Given the description of an element on the screen output the (x, y) to click on. 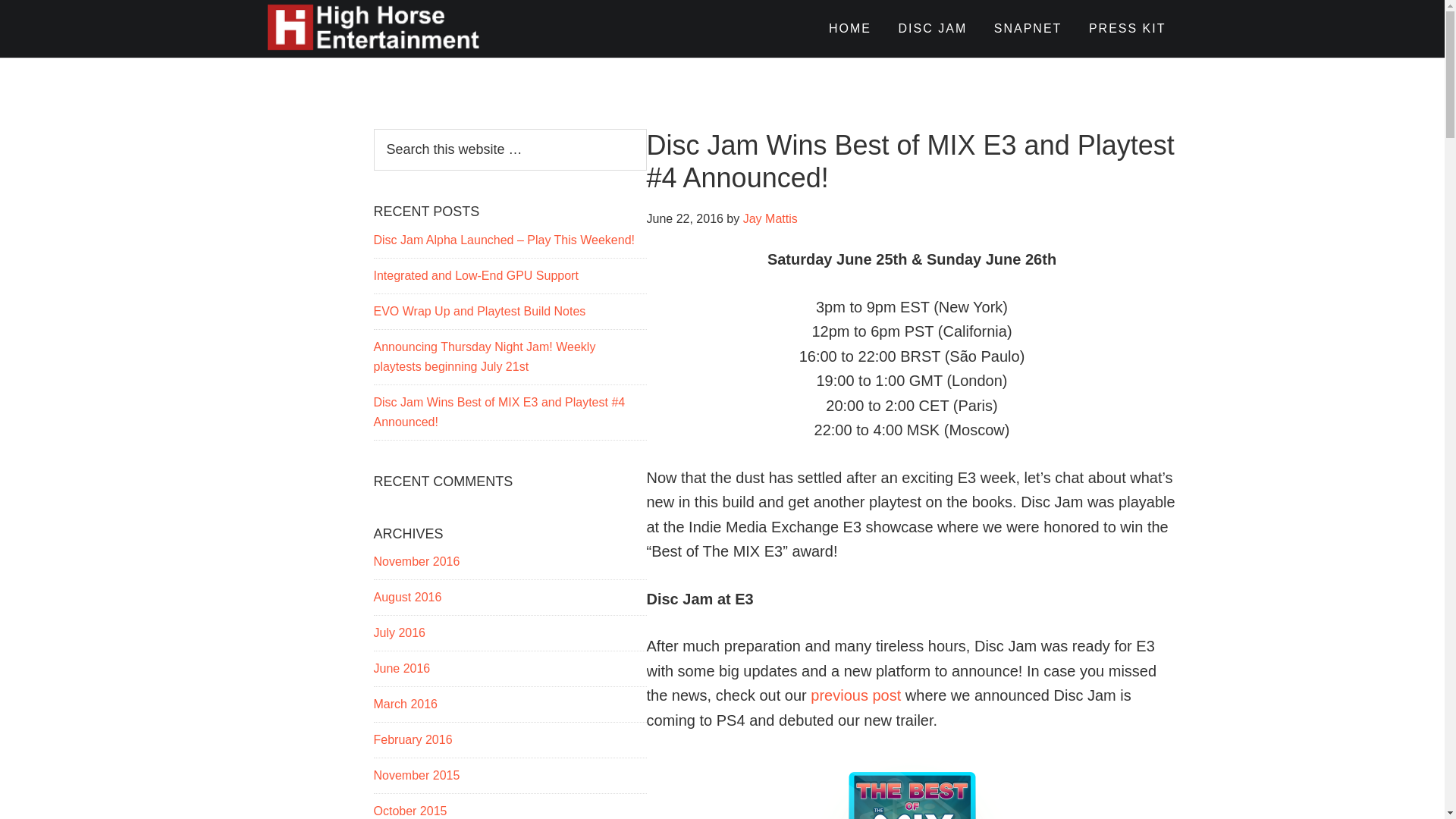
High Horse Entertainment (403, 28)
PRESS KIT (1127, 28)
February 2016 (411, 739)
DISC JAM (932, 28)
August 2016 (406, 596)
October 2015 (409, 810)
November 2015 (416, 775)
July 2016 (398, 632)
November 2016 (416, 561)
Jay Mattis (769, 218)
SNAPNET (1028, 28)
previous post (855, 695)
